Given the description of an element on the screen output the (x, y) to click on. 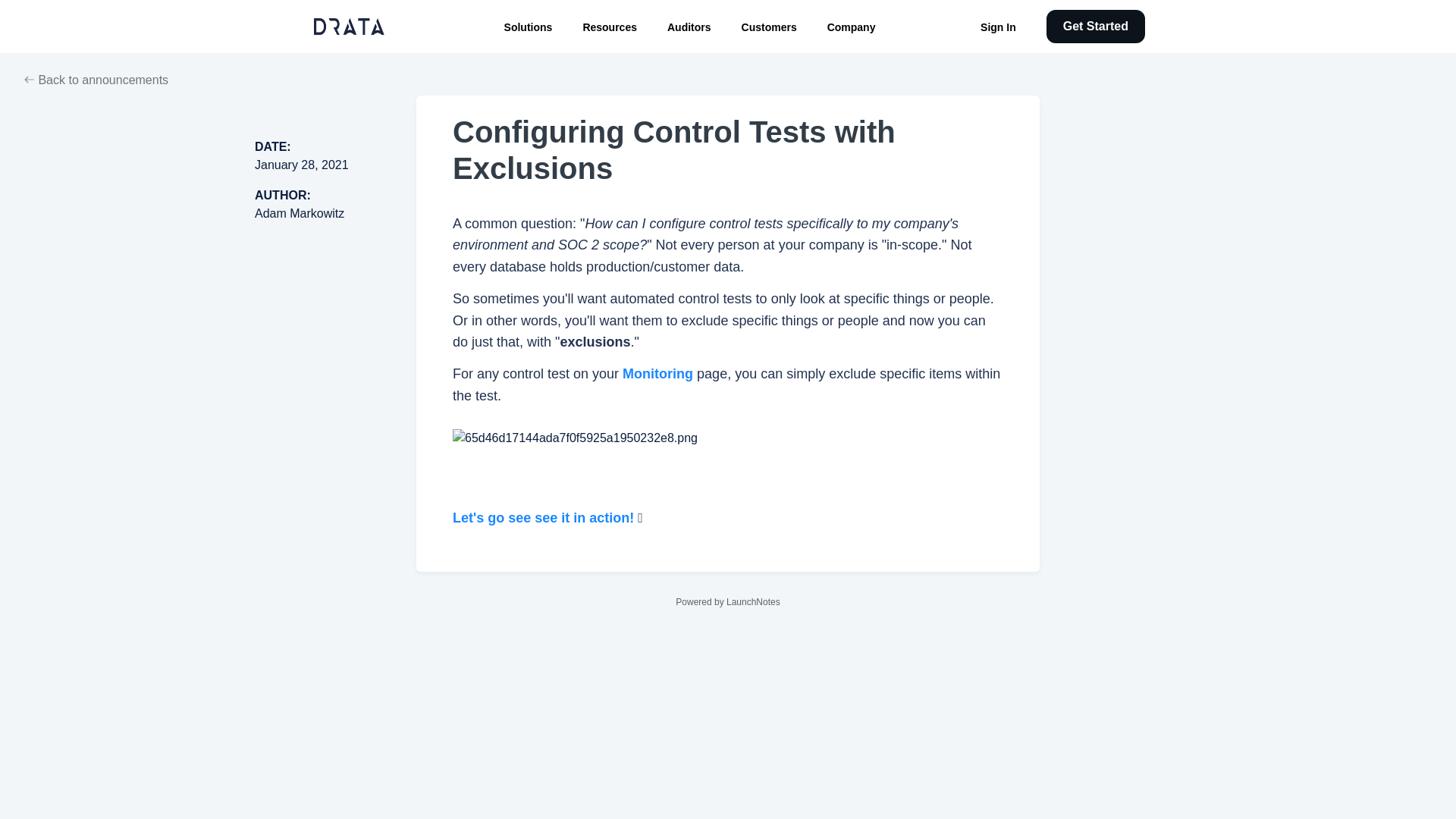
Resources (609, 27)
January 28, 2021 at 1:00am  (301, 164)
Get Started (1095, 26)
Sign In (997, 27)
arrow-left Back to announcements (96, 80)
Let's go see see it in action! (542, 516)
Customers (768, 27)
Auditors (688, 27)
Monitoring (658, 373)
Company (851, 27)
